Given the description of an element on the screen output the (x, y) to click on. 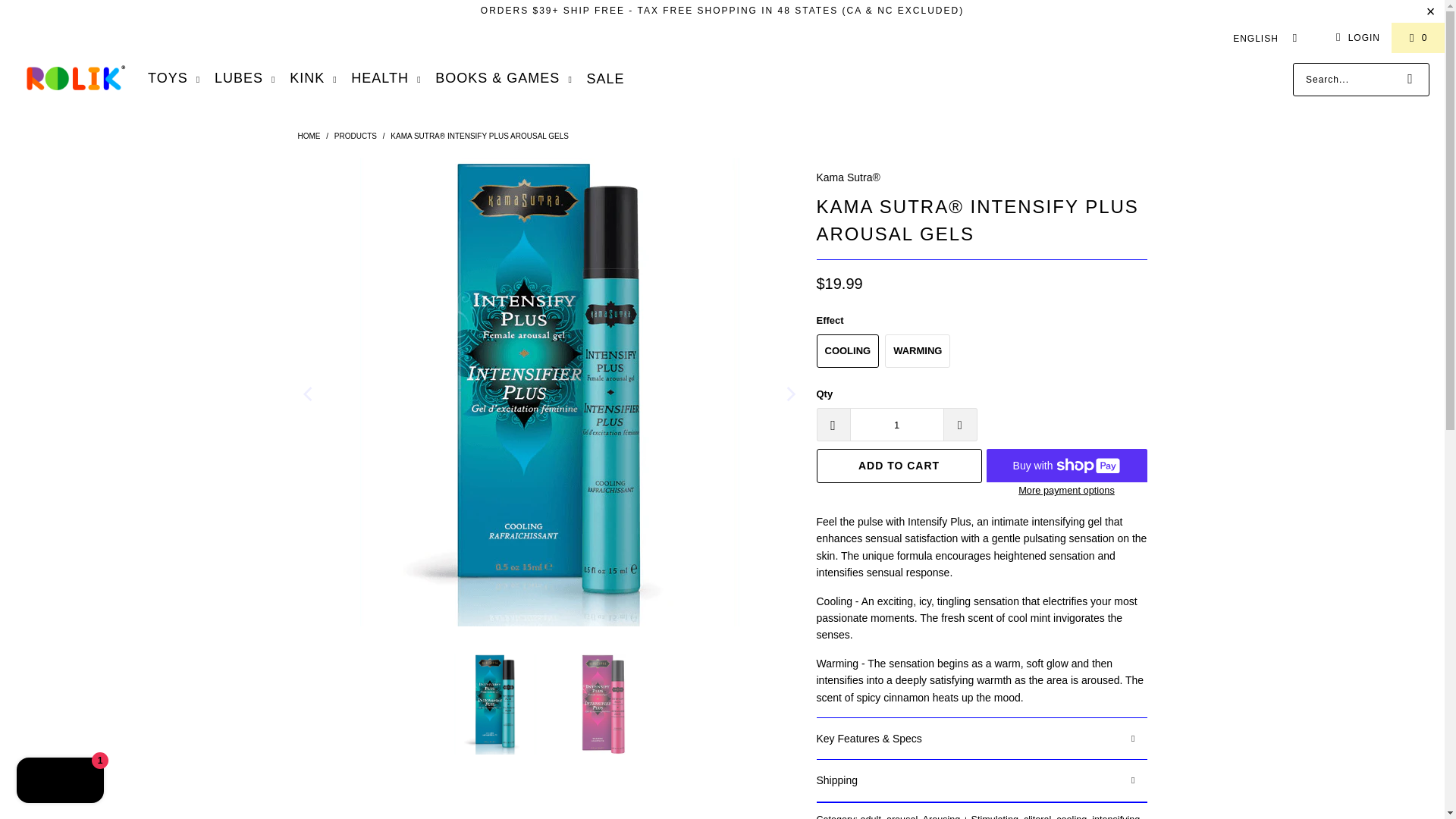
My Account  (1355, 37)
Products tagged intensifying (1116, 816)
Products tagged adult (870, 816)
Products tagged clitoral (1037, 816)
1 (895, 424)
Products (356, 135)
Products tagged arousal (901, 816)
Products tagged cooling (1071, 816)
